Given the description of an element on the screen output the (x, y) to click on. 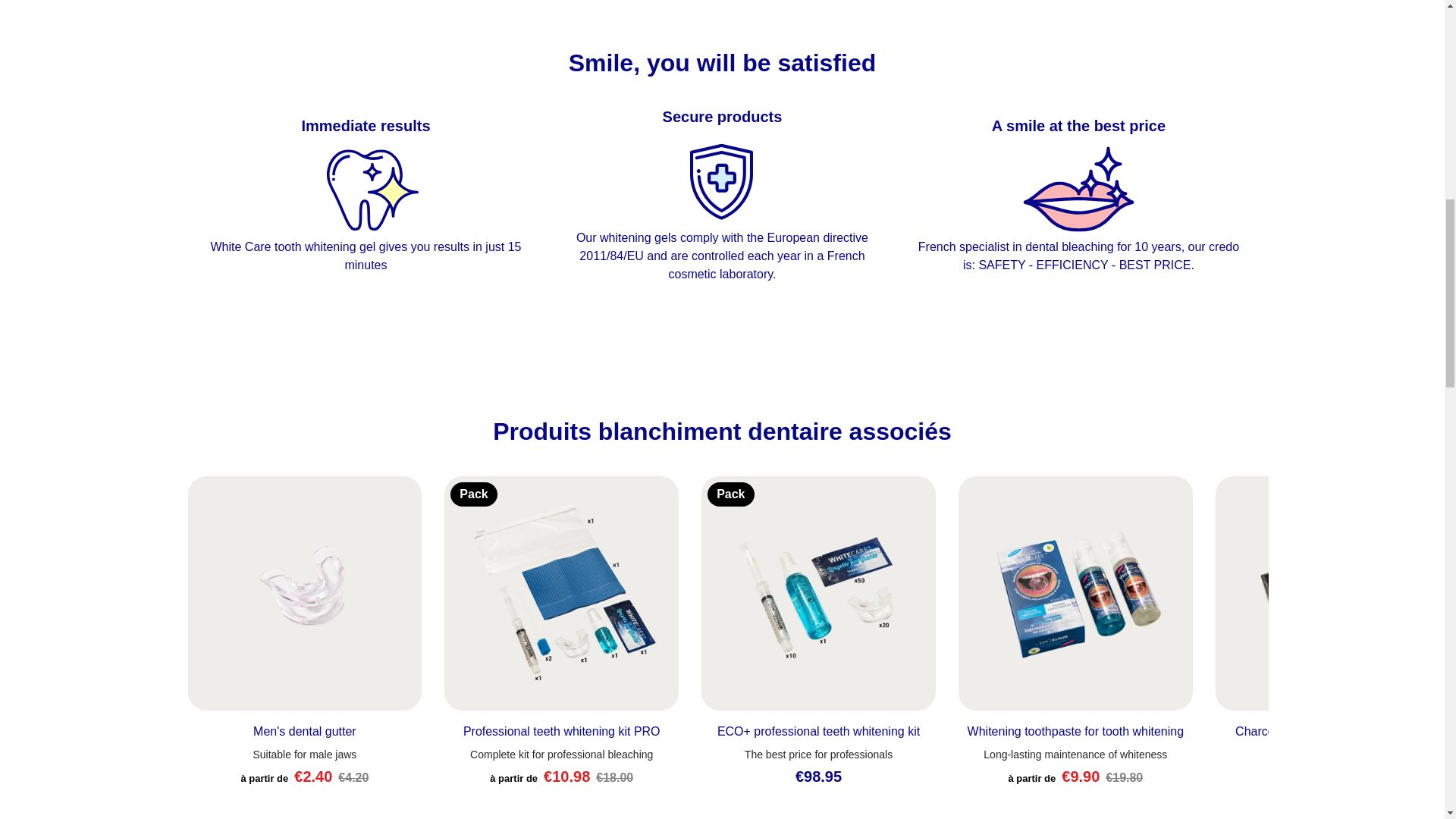
Men's dental gutter (304, 731)
Professional teeth whitening kit PRO (561, 731)
Whitening toothpaste for tooth whitening (1075, 731)
